Given the description of an element on the screen output the (x, y) to click on. 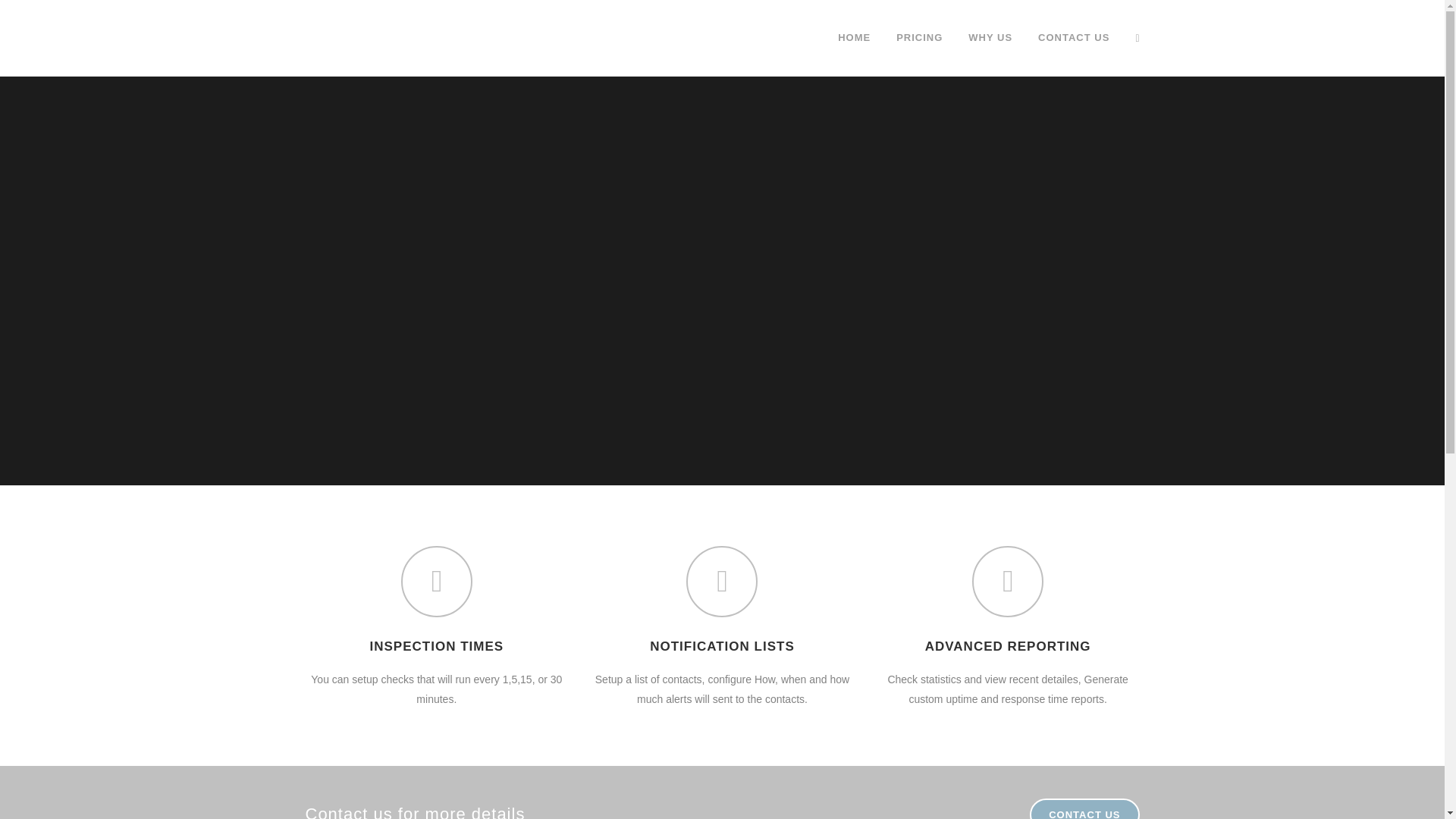
PRICING (919, 38)
CONTACT US (1083, 808)
Audio (869, 631)
1 topic (803, 722)
6 topics (795, 631)
2 topics (765, 700)
PRICING (621, 658)
6 topics (810, 654)
WHY US (621, 688)
Analysis (759, 631)
